Given the description of an element on the screen output the (x, y) to click on. 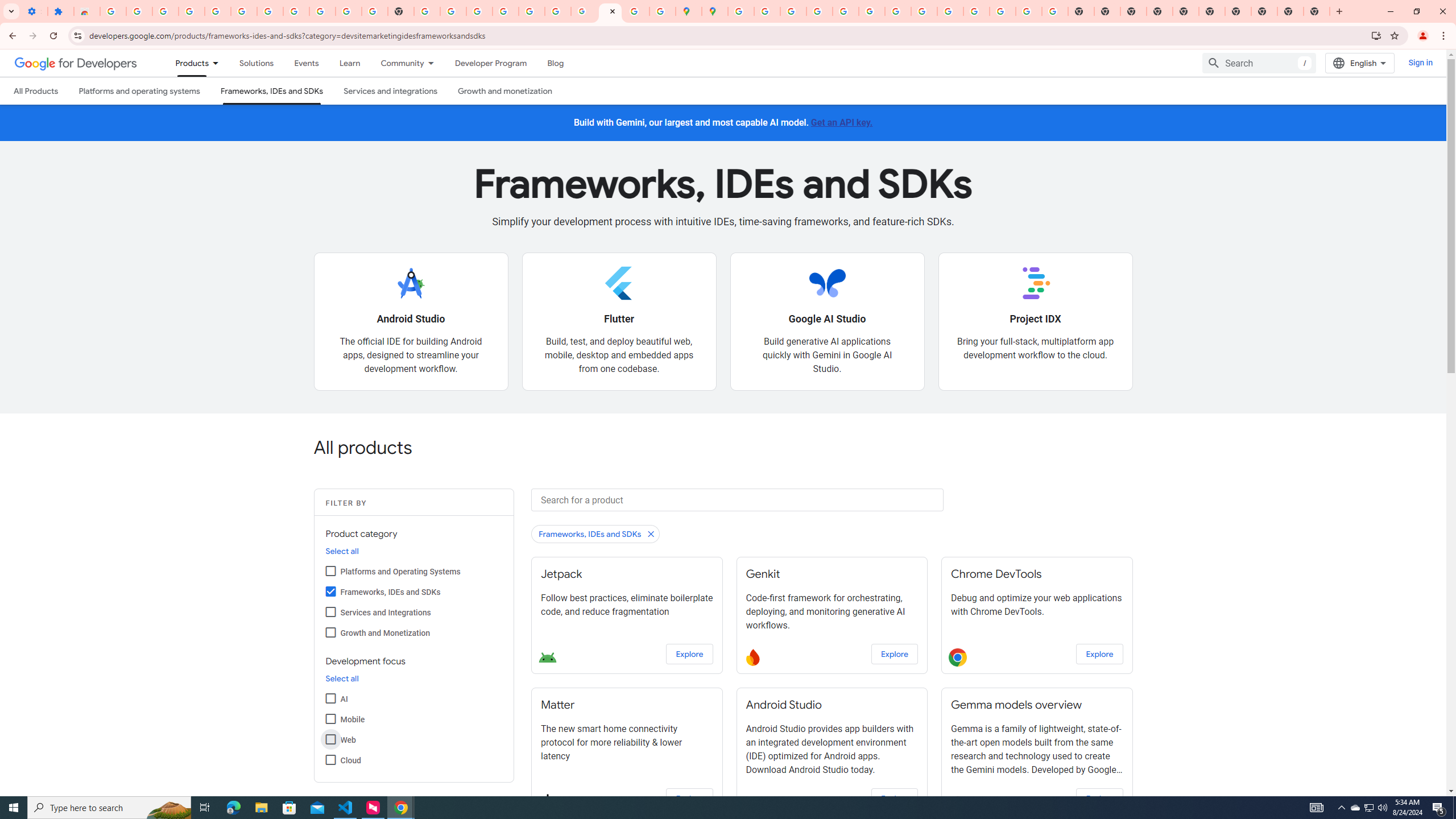
Web (330, 738)
Sign in - Google Accounts (505, 11)
Developer Program (490, 62)
Google for Developers (75, 63)
Sign in - Google Accounts (112, 11)
https://scholar.google.com/ (427, 11)
Get an API key. (841, 122)
AutomationID: devsitemarketingidesframeworksandsdks (330, 590)
Growth and monetization (504, 90)
